Given the description of an element on the screen output the (x, y) to click on. 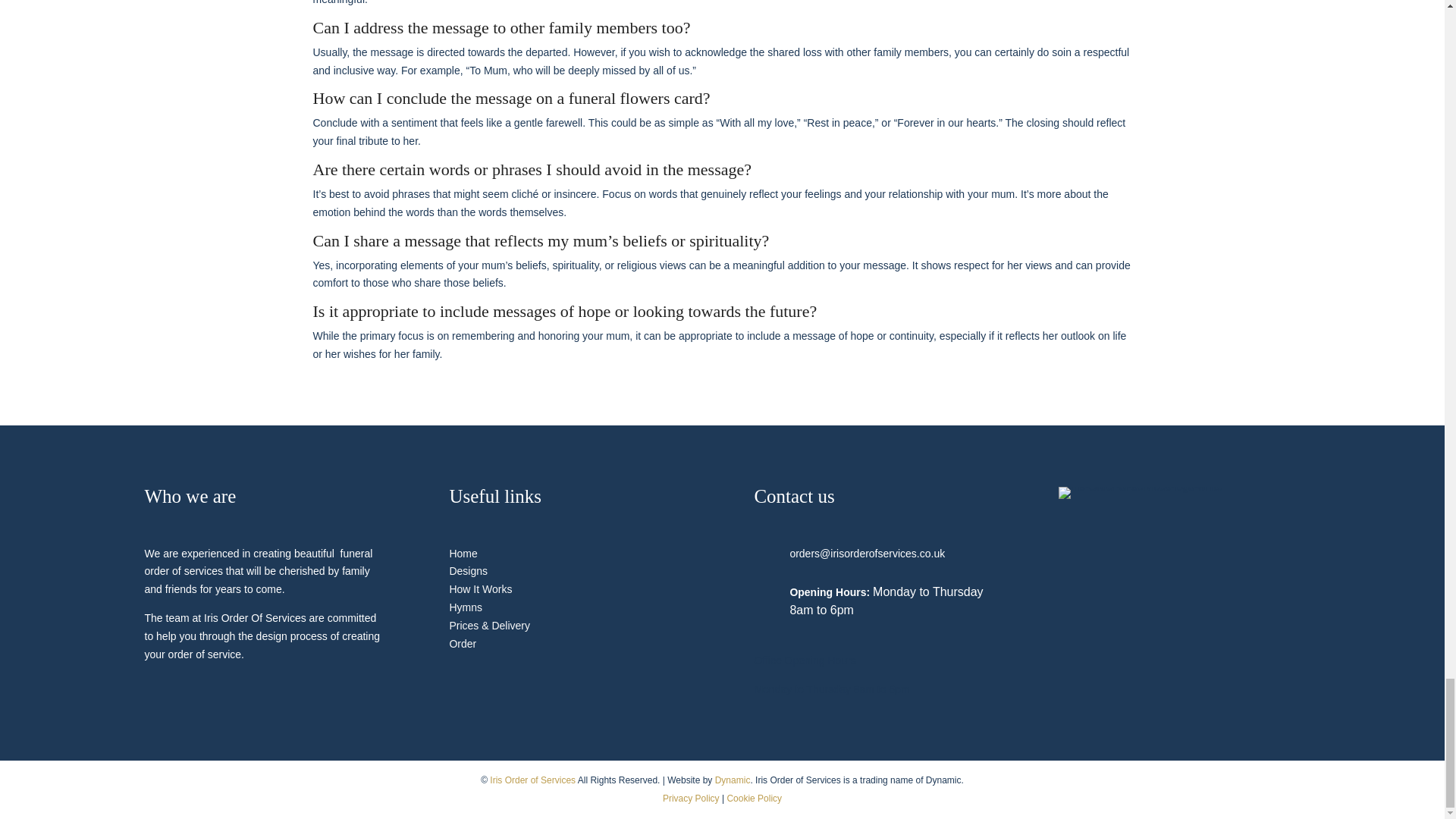
Hymns (464, 607)
Order (462, 644)
How It Works (480, 589)
Iris Order of Services (532, 779)
Privacy Policy (690, 798)
Designs (467, 571)
Dynamic (732, 779)
Cookie Policy (753, 798)
Home (462, 553)
Iris Order Of Services (1140, 492)
